Given the description of an element on the screen output the (x, y) to click on. 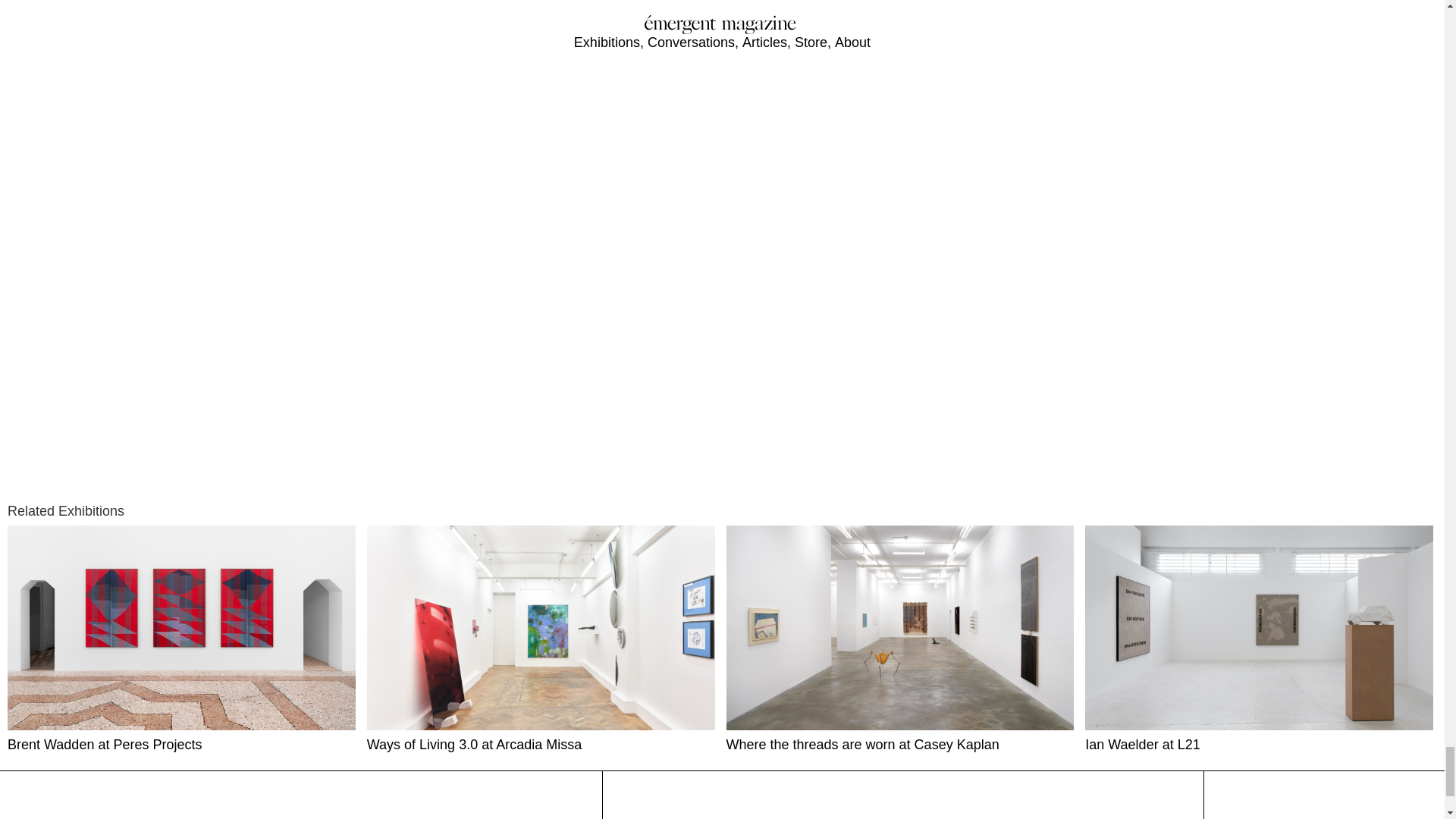
Where the threads are worn at Casey Kaplan (902, 640)
Brent Wadden at Peres Projects (183, 640)
Ways of Living 3.0 at Arcadia Missa (542, 640)
Ian Waelder at L21 (1260, 640)
